Given the description of an element on the screen output the (x, y) to click on. 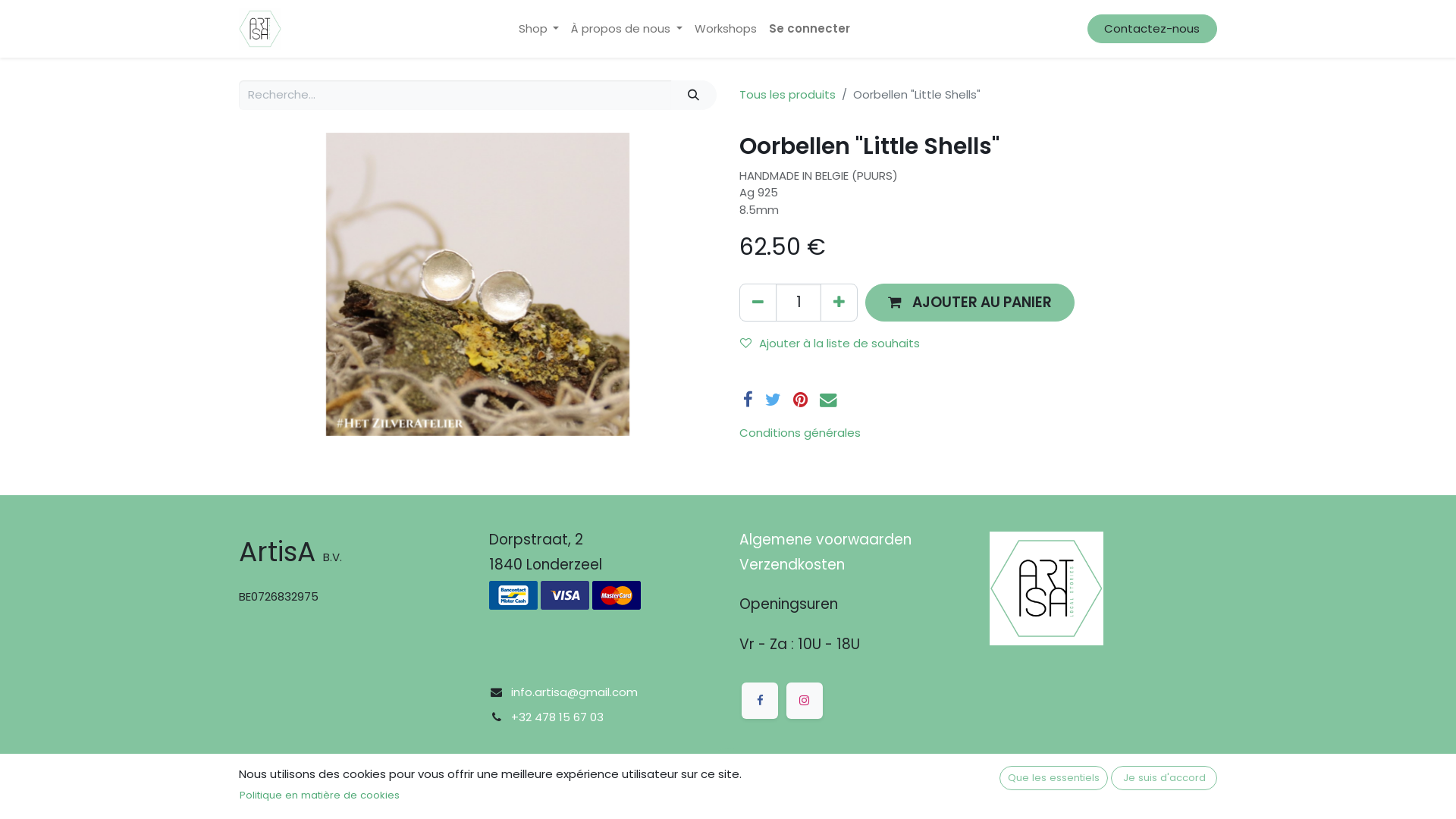
Se connecter Element type: text (809, 28)
AJOUTER AU PANIER Element type: text (969, 301)
Verzendkosten Element type: text (791, 564)
+32 478 15 67 03 Element type: text (557, 716)
Que les essentiels Element type: text (1053, 777)
Algemene voorwaarden Element type: text (825, 539)
Rechercher Element type: hover (693, 94)
Tous les produits Element type: text (787, 94)
Ajouter Element type: hover (838, 301)
Workshops Element type: text (725, 28)
Shop Element type: text (538, 28)
info.artisa@gmail.com Element type: text (574, 691)
Open Source eCommerce Element type: text (1142, 792)
ArtisA Element type: hover (259, 28)
Supprimer Element type: hover (757, 301)
Je suis d'accord Element type: text (1163, 777)
Contactez-nous Element type: text (1152, 28)
